Given the description of an element on the screen output the (x, y) to click on. 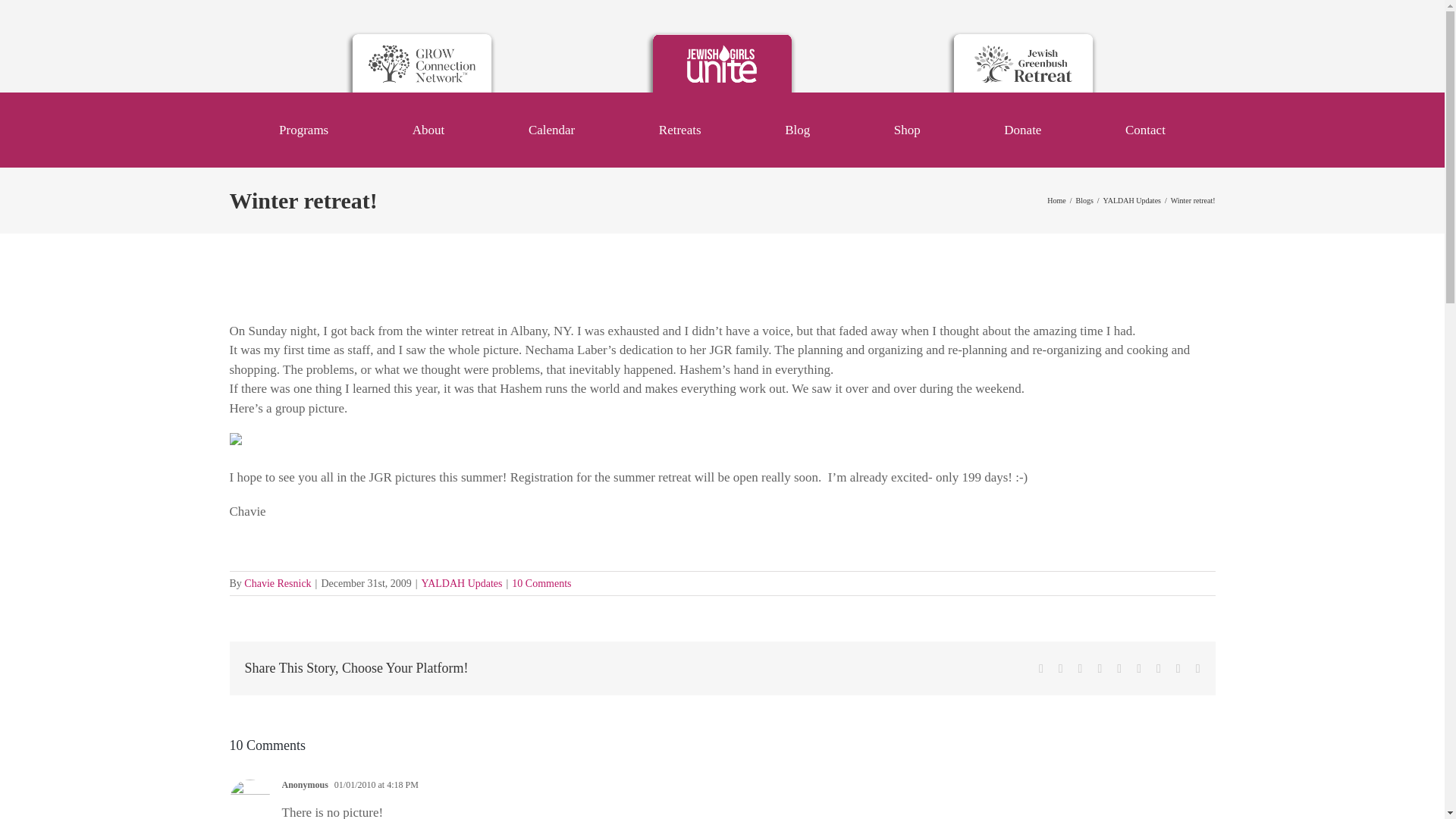
About (428, 129)
Retreats (680, 129)
Home (1055, 200)
YALDAH Updates (1131, 200)
Twitter (1060, 668)
Shop (906, 129)
Chavie Resnick (277, 583)
Posts by Chavie Resnick (277, 583)
Vk (1178, 668)
Blogs (1084, 200)
Facebook (1041, 668)
10 Comments (541, 583)
Donate (1022, 129)
Programs (304, 129)
LinkedIn (1099, 668)
